Given the description of an element on the screen output the (x, y) to click on. 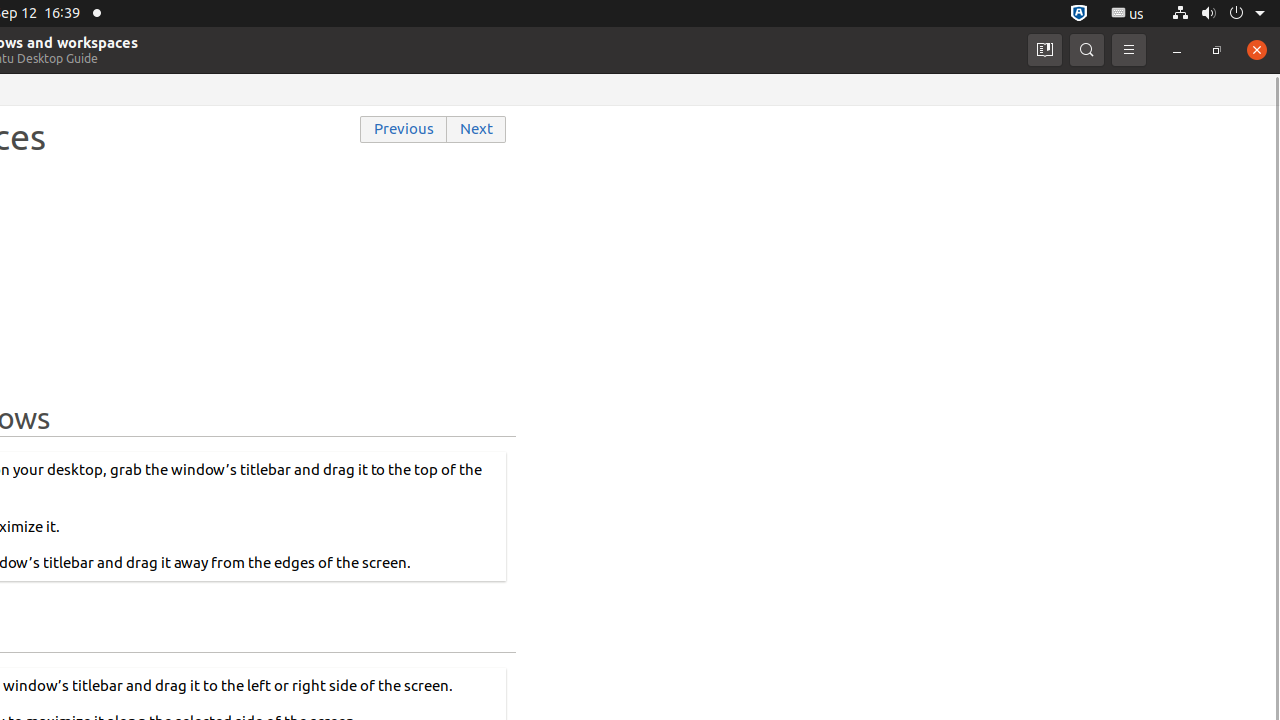
Close Element type: push-button (1257, 50)
